Given the description of an element on the screen output the (x, y) to click on. 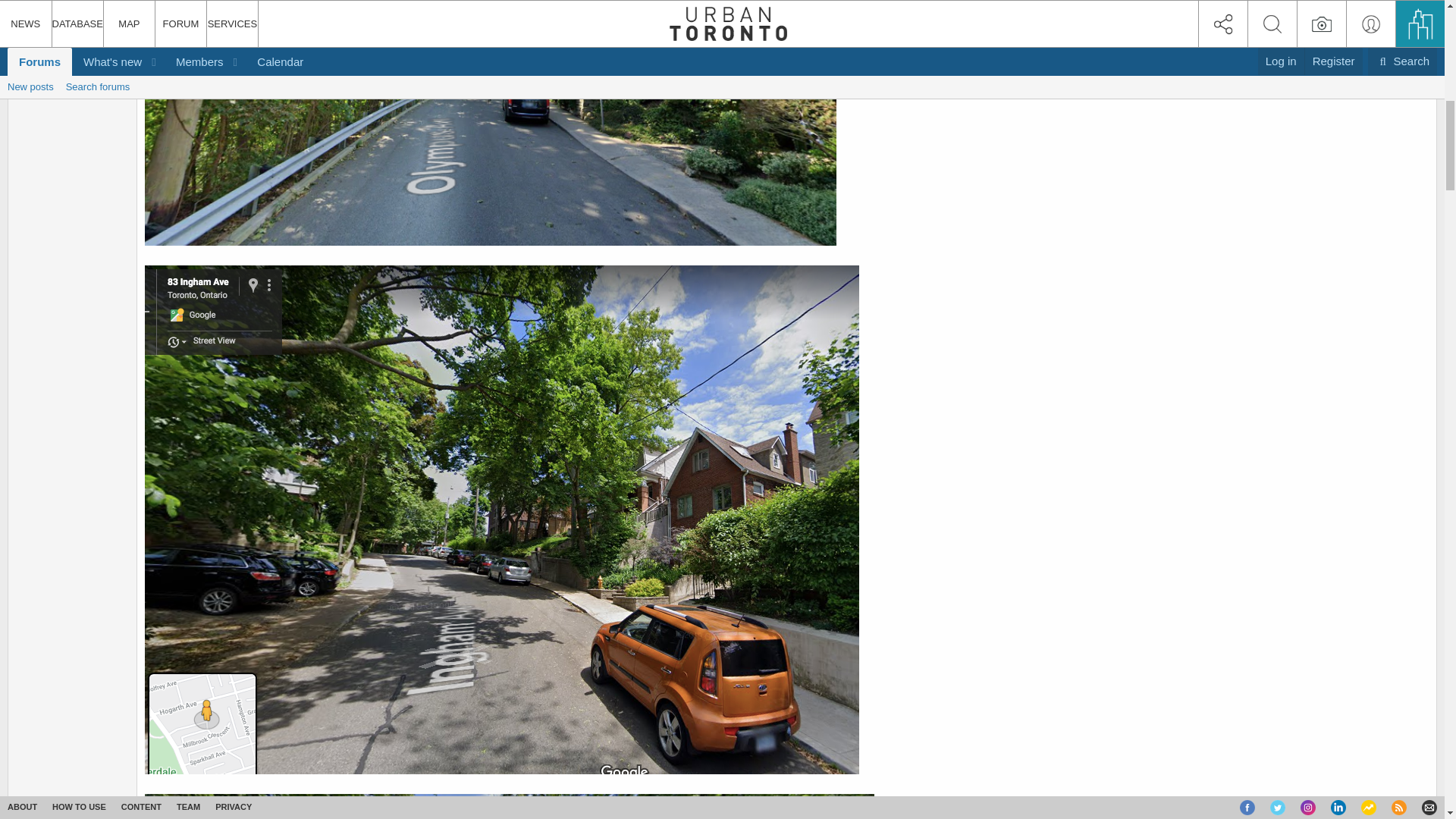
Screen Shot 2020-02-09 at 10.58.47 AM.png (509, 806)
Screen Shot 2020-02-09 at 10.58.47 AM.png (509, 806)
